Given the description of an element on the screen output the (x, y) to click on. 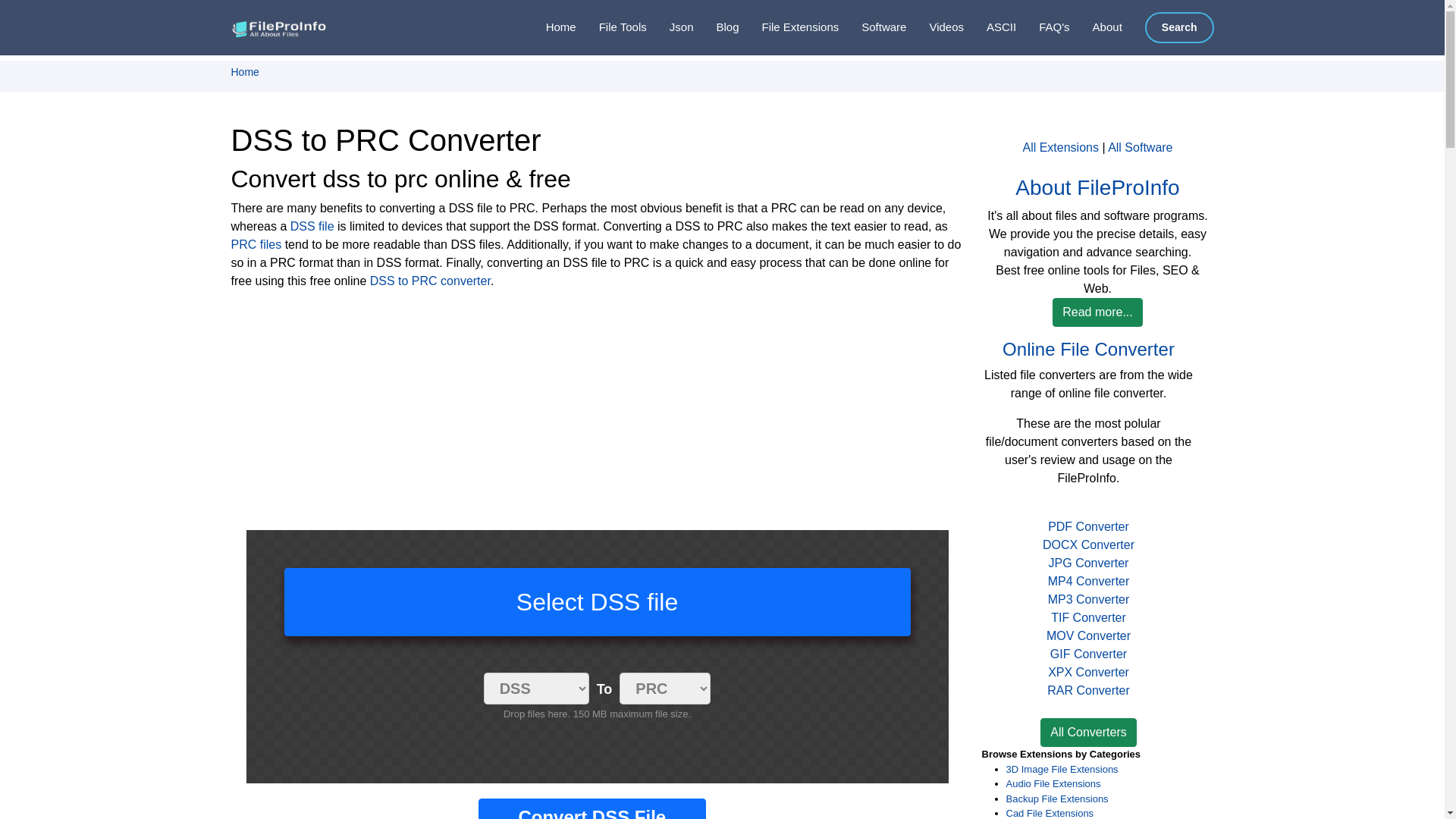
Videos (934, 27)
Software program list (871, 27)
ASCII (989, 27)
Home (549, 27)
DSS to PRC converter (429, 280)
Home (244, 71)
Home FileProInfo.com (549, 27)
FileProInfo tech blog (715, 27)
About FileProInfo (1096, 27)
Select DSS file (596, 602)
FAQ's (1042, 27)
Json (670, 27)
Json (670, 27)
Home (549, 27)
Software (871, 27)
